Given the description of an element on the screen output the (x, y) to click on. 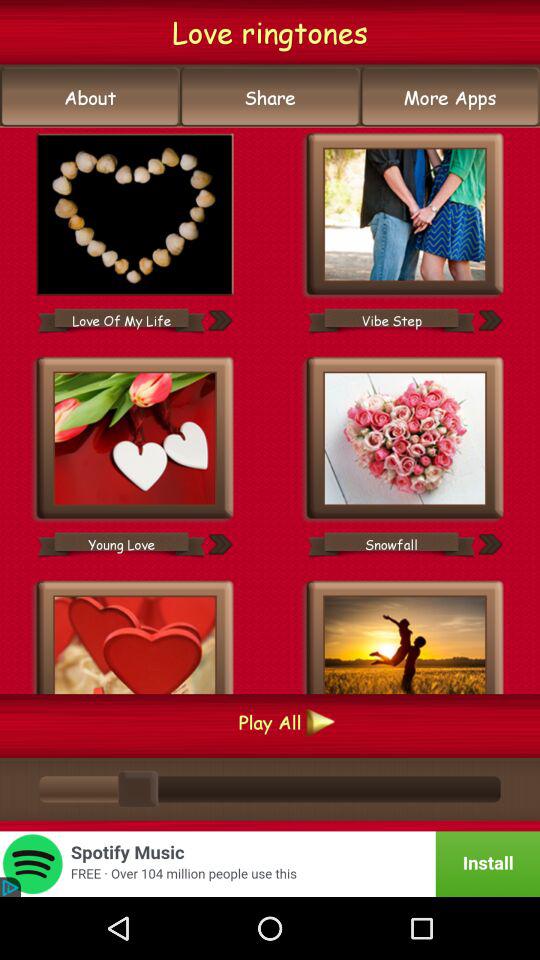
launch the more apps icon (450, 97)
